Given the description of an element on the screen output the (x, y) to click on. 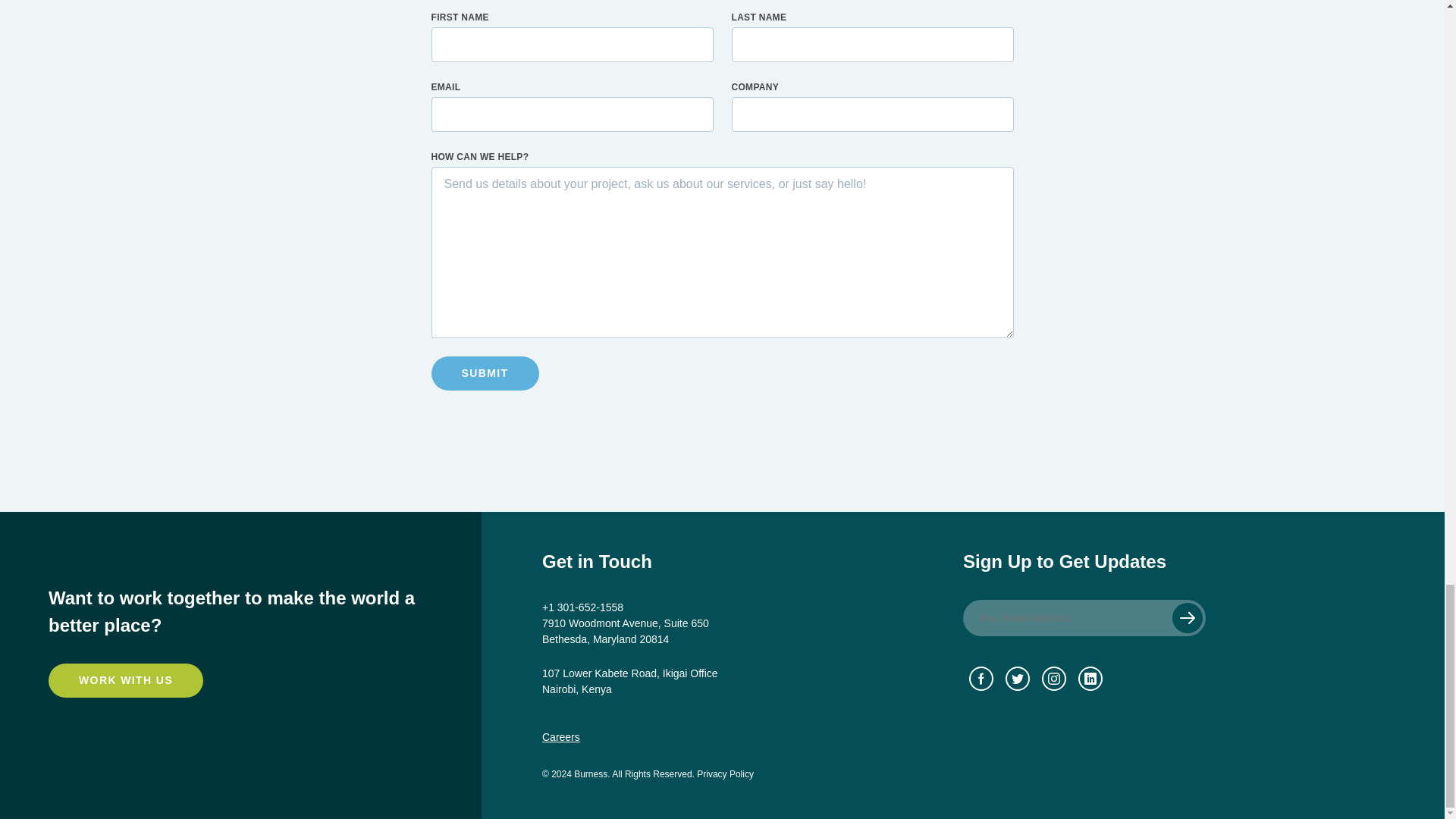
Privacy Policy (725, 774)
Careers (560, 736)
WORK WITH US (125, 680)
SUBMIT (484, 373)
